Given the description of an element on the screen output the (x, y) to click on. 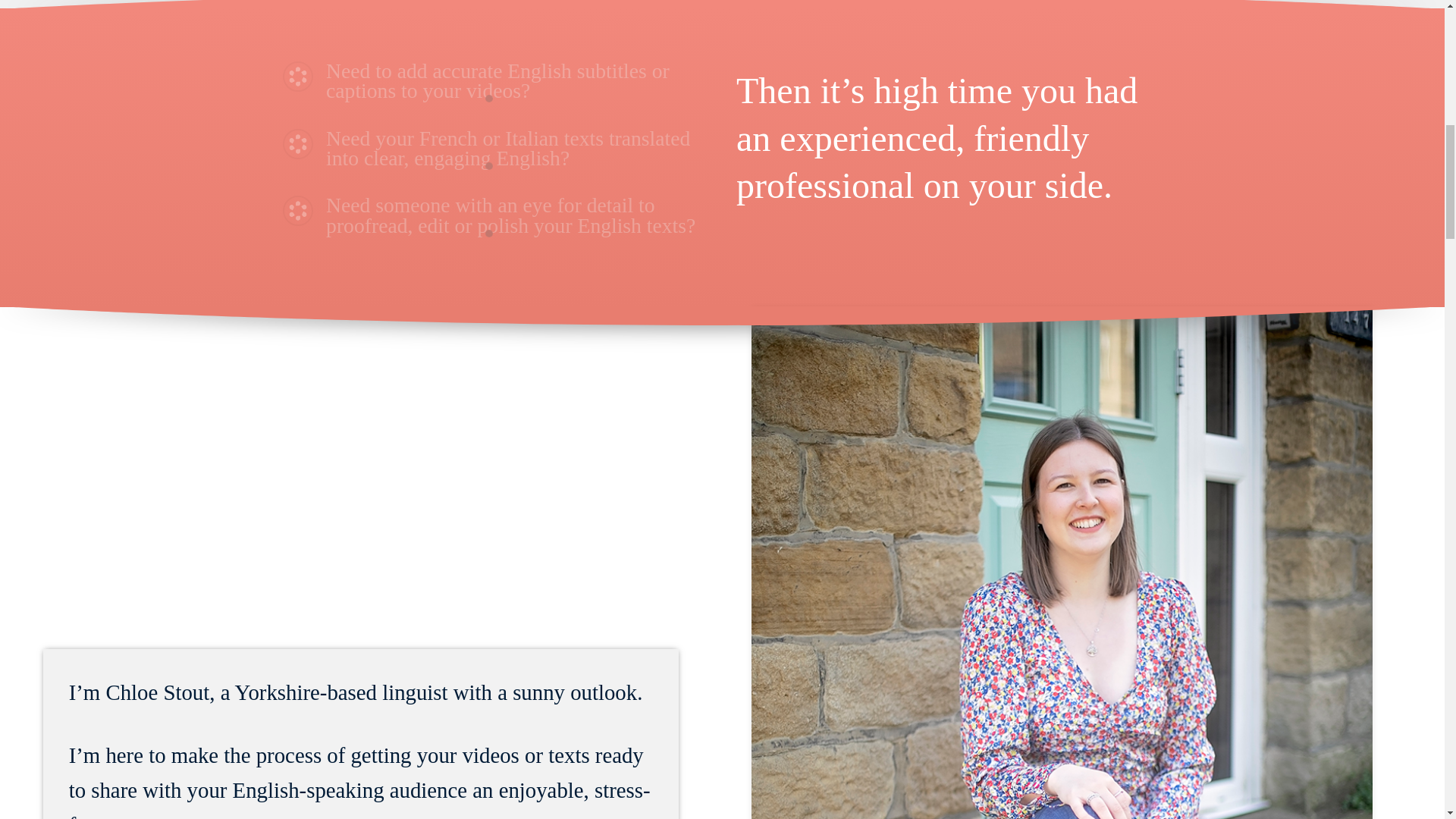
Chloe Stout Translations (297, 76)
Chloe Stout Translations (297, 144)
Chloe Stout Translations (297, 210)
Chloe Stout Translations (945, 4)
